Given the description of an element on the screen output the (x, y) to click on. 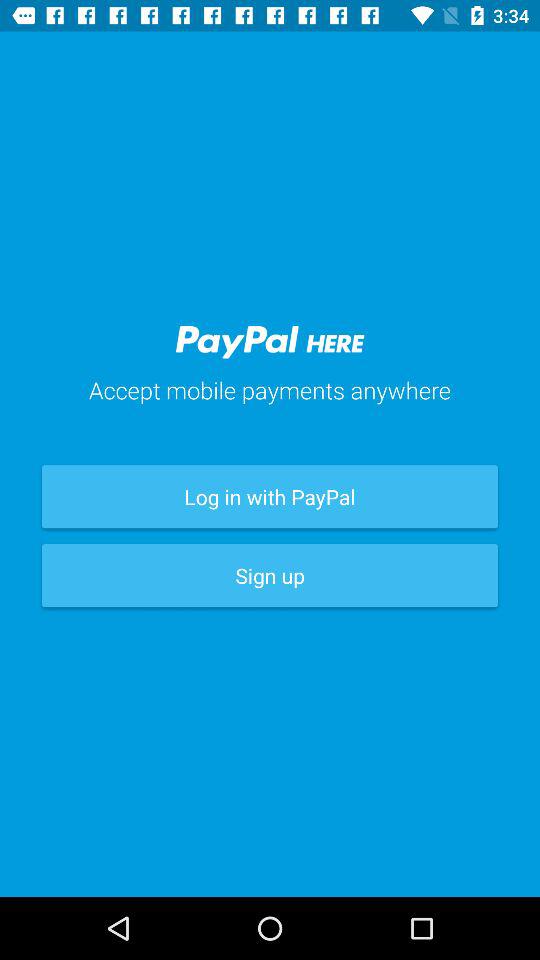
open the item below accept mobile payments (269, 496)
